Given the description of an element on the screen output the (x, y) to click on. 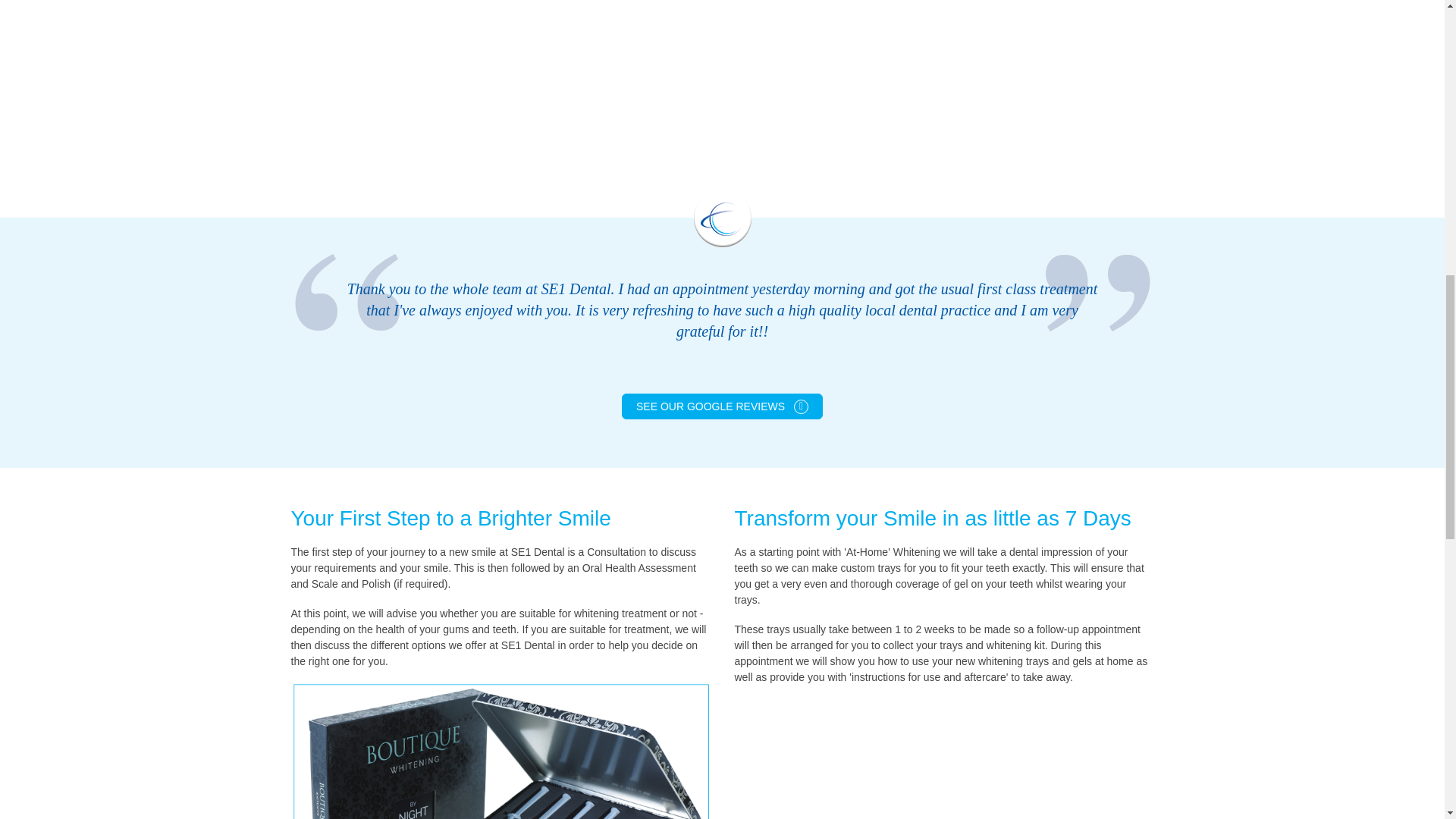
YouTube video player (503, 80)
